Given the description of an element on the screen output the (x, y) to click on. 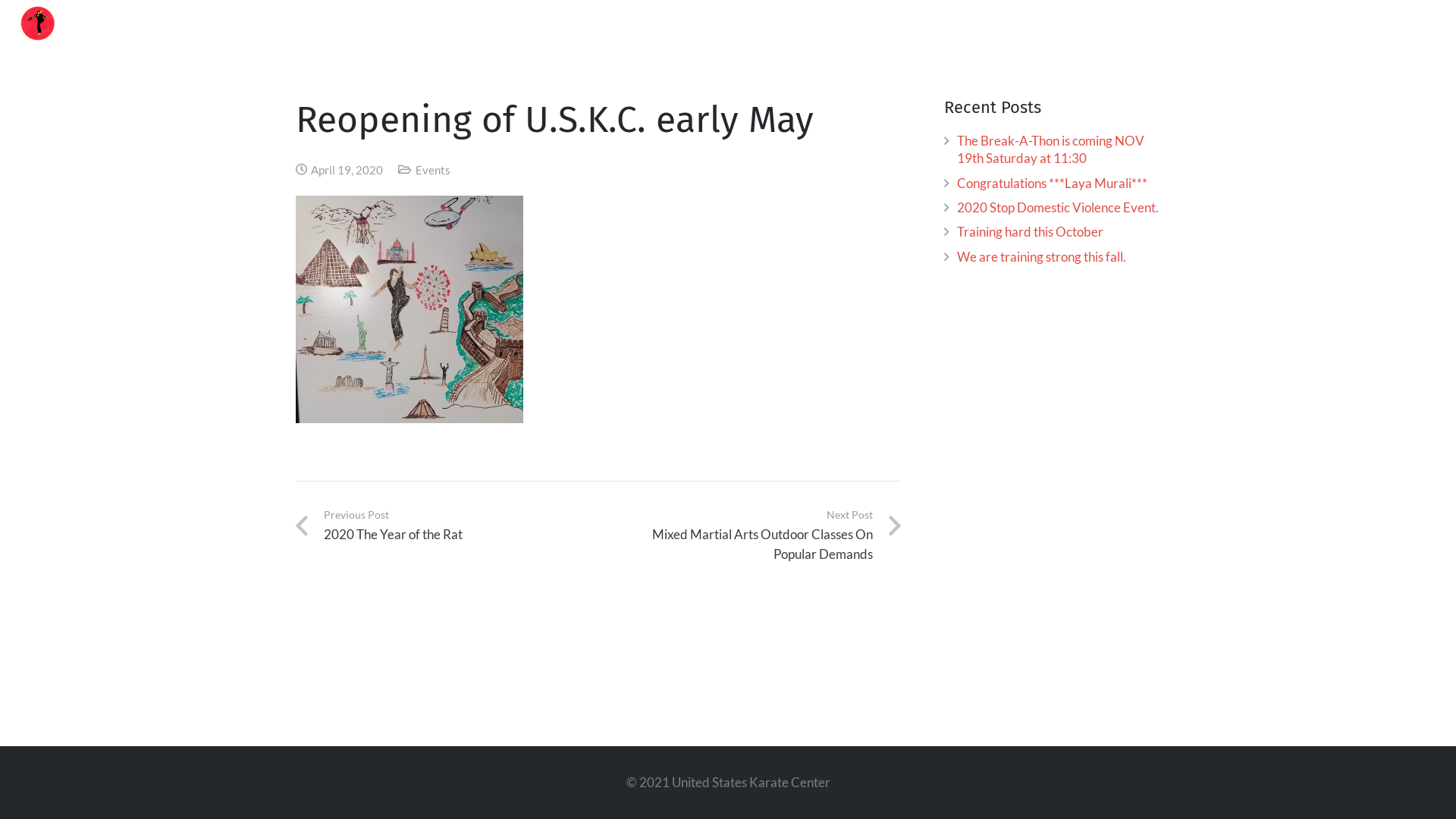
HOME Element type: text (921, 22)
Events Element type: text (432, 168)
GALLERY Element type: text (1269, 22)
CONTACT Element type: text (1362, 22)
The Break-A-Thon is coming NOV 19th Saturday at 11:30 Element type: text (1050, 149)
2020 Stop Domestic Violence Event. Element type: text (1057, 207)
Previous Post
2020 The Year of the Rat Element type: text (446, 535)
Congratulations ***Laya Murali*** Element type: text (1052, 183)
ABOUT Element type: text (997, 22)
We are training strong this fall. Element type: text (1041, 256)
Search Element type: hover (1429, 22)
EVENTS Element type: text (1076, 22)
PROGRAMS Element type: text (1171, 22)
Training hard this October Element type: text (1030, 231)
